Given the description of an element on the screen output the (x, y) to click on. 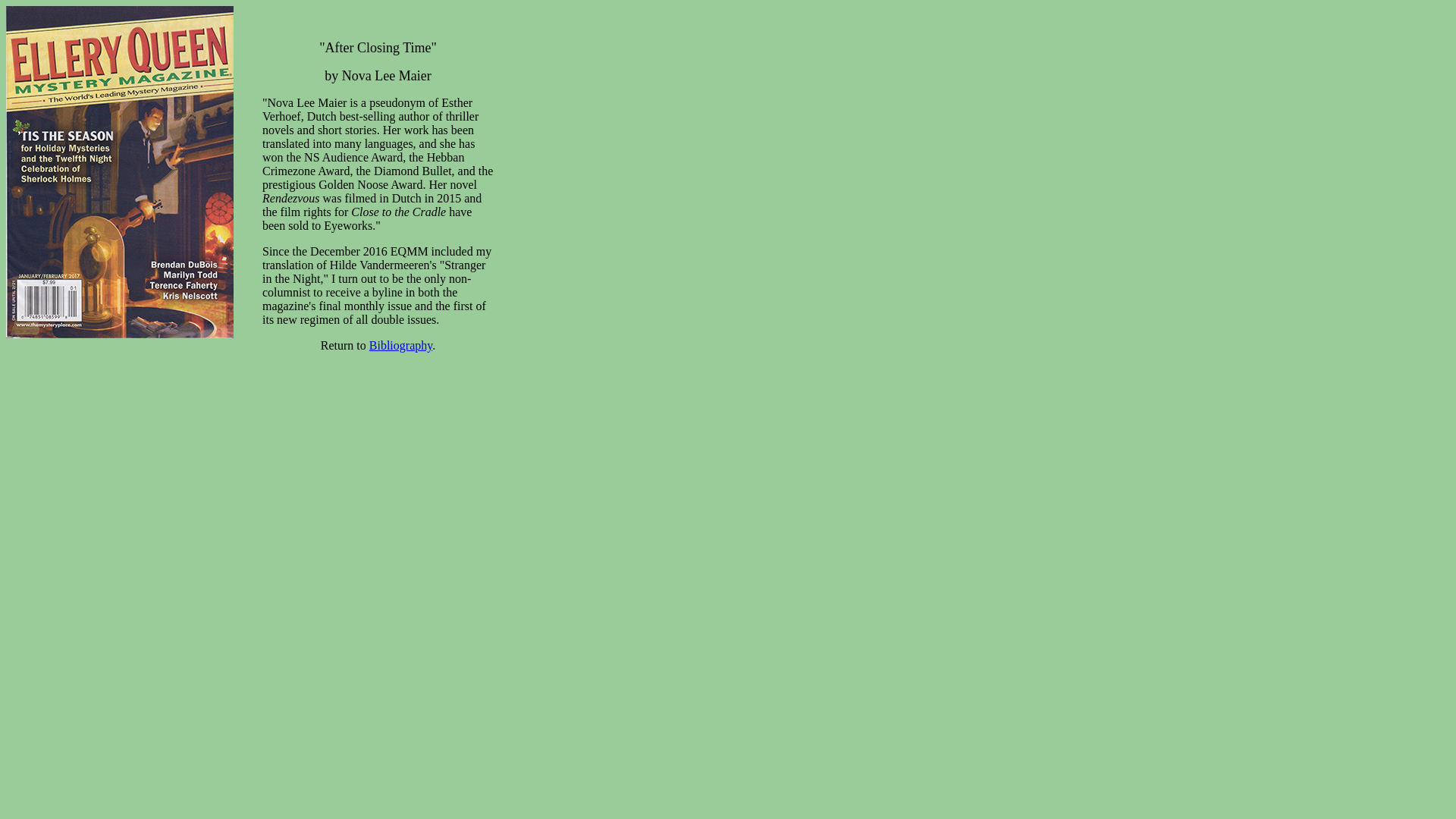
Bibliography (400, 345)
